Given the description of an element on the screen output the (x, y) to click on. 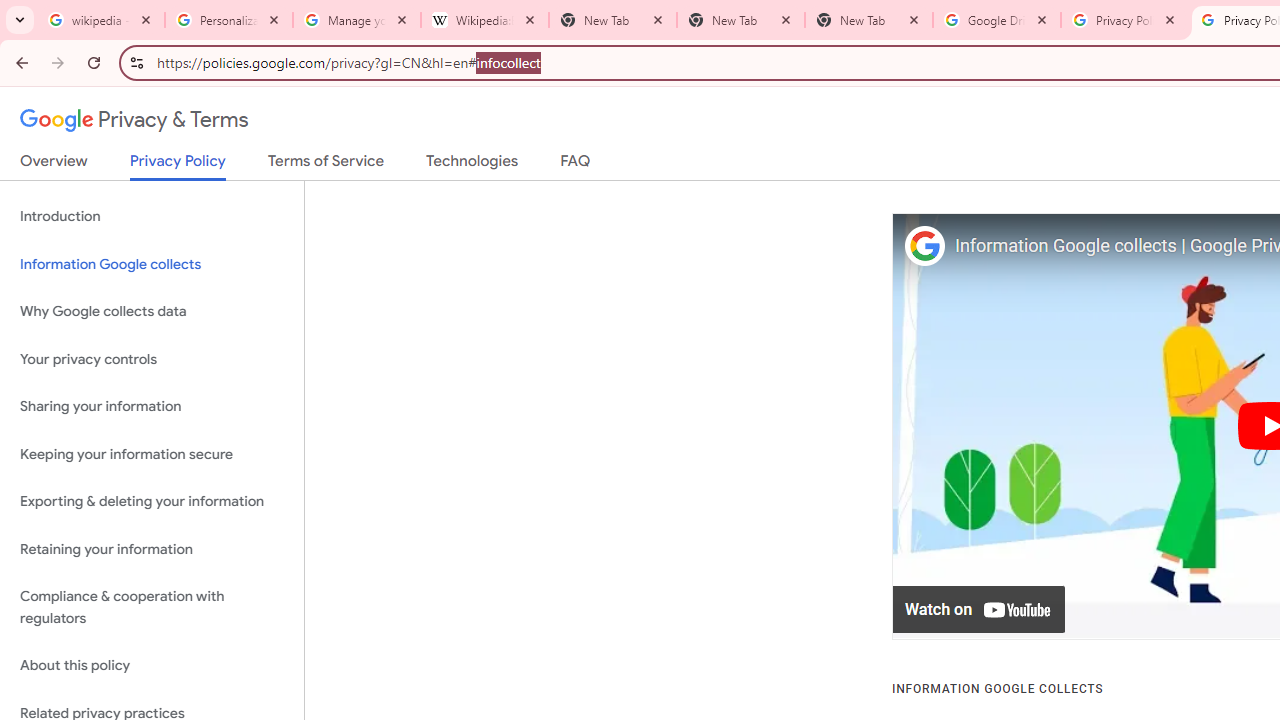
Manage your Location History - Google Search Help (357, 20)
Watch on YouTube (979, 610)
New Tab (869, 20)
Keeping your information secure (152, 453)
About this policy (152, 666)
Personalization & Google Search results - Google Search Help (229, 20)
Exporting & deleting your information (152, 502)
Google Drive: Sign-in (997, 20)
